Given the description of an element on the screen output the (x, y) to click on. 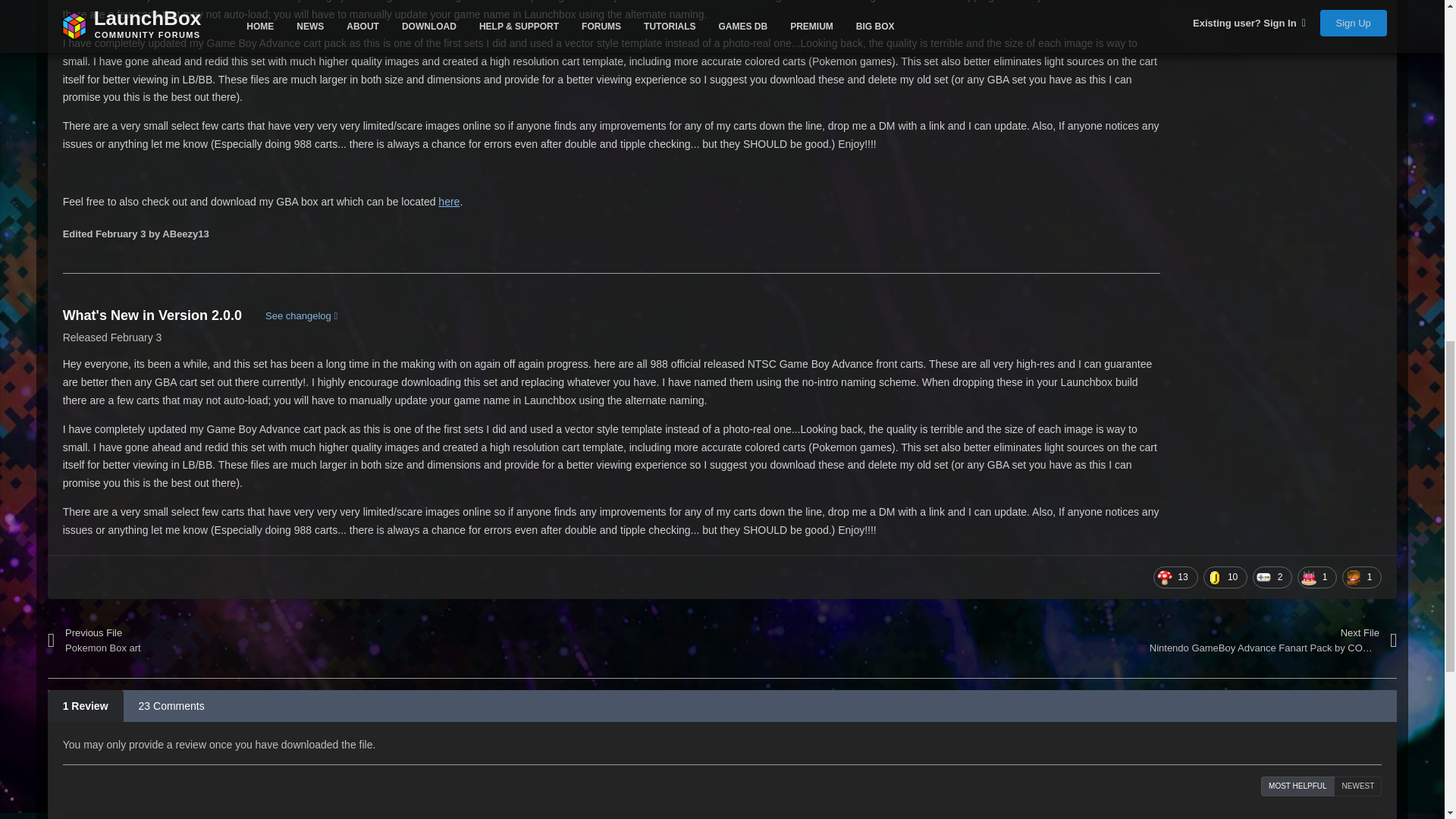
See the version history for this file (301, 315)
